Given the description of an element on the screen output the (x, y) to click on. 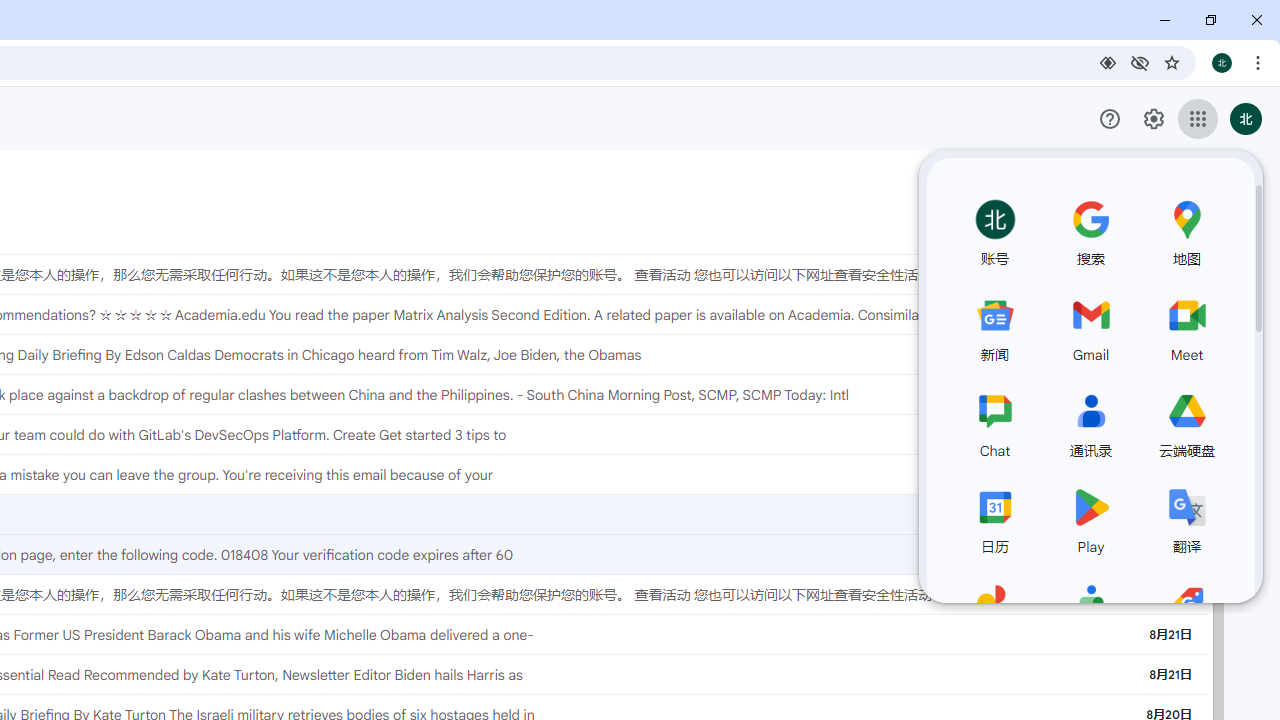
Minimize (1165, 20)
